Given the description of an element on the screen output the (x, y) to click on. 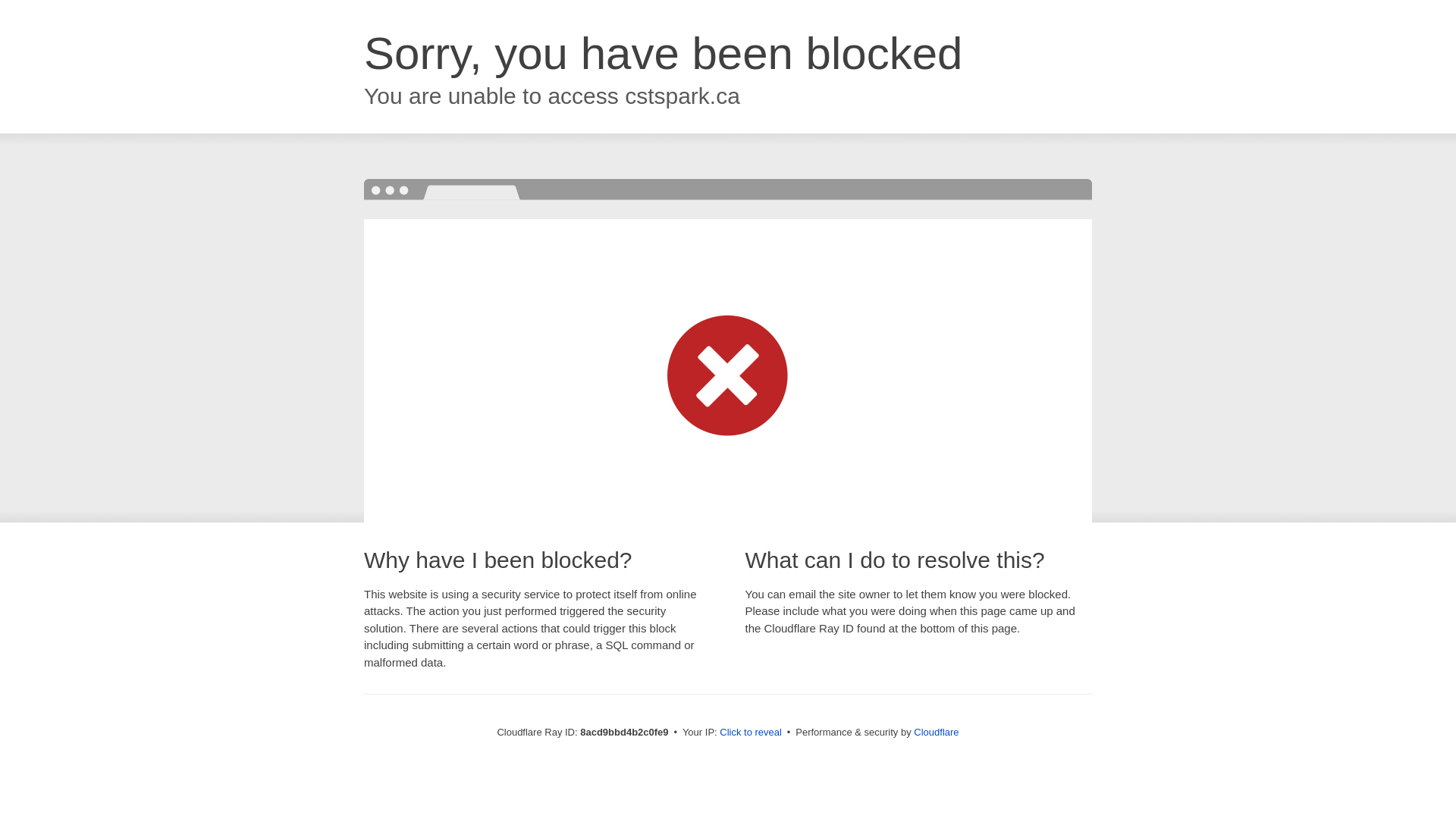
Cloudflare (936, 731)
Click to reveal (750, 732)
